Given the description of an element on the screen output the (x, y) to click on. 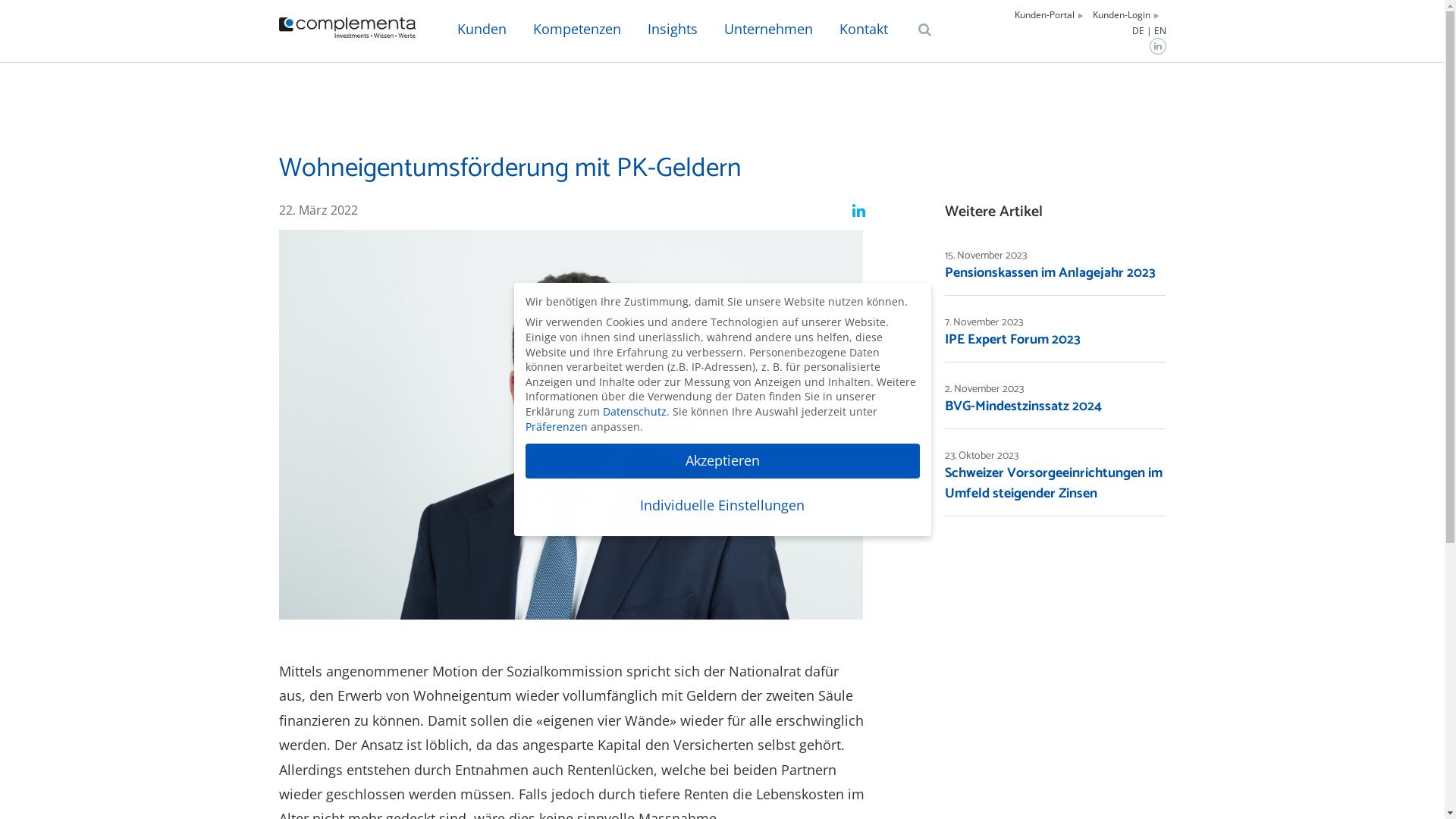
Insights Element type: text (671, 31)
Kunden Element type: text (481, 31)
Akzeptieren Element type: text (721, 460)
Individuelle Einstellungen Element type: text (721, 505)
Unternehmen Element type: text (768, 31)
Kompetenzen Element type: text (576, 31)
IPE Expert Forum 2023 Element type: text (1012, 339)
BVG-Mindestzinssatz 2024 Element type: text (1022, 406)
Kunden-Portal Element type: text (1044, 13)
Deutsch Element type: hover (1141, 30)
Kontakt Element type: text (863, 31)
Kunden-Login Element type: text (1120, 13)
Englisch Element type: hover (1160, 30)
Schweizer Vorsorgeeinrichtungen im Umfeld steigender Zinsen Element type: text (1053, 483)
Pensionskassen im Anlagejahr 2023 Element type: text (1049, 272)
Datenschutz Element type: text (633, 411)
